Given the description of an element on the screen output the (x, y) to click on. 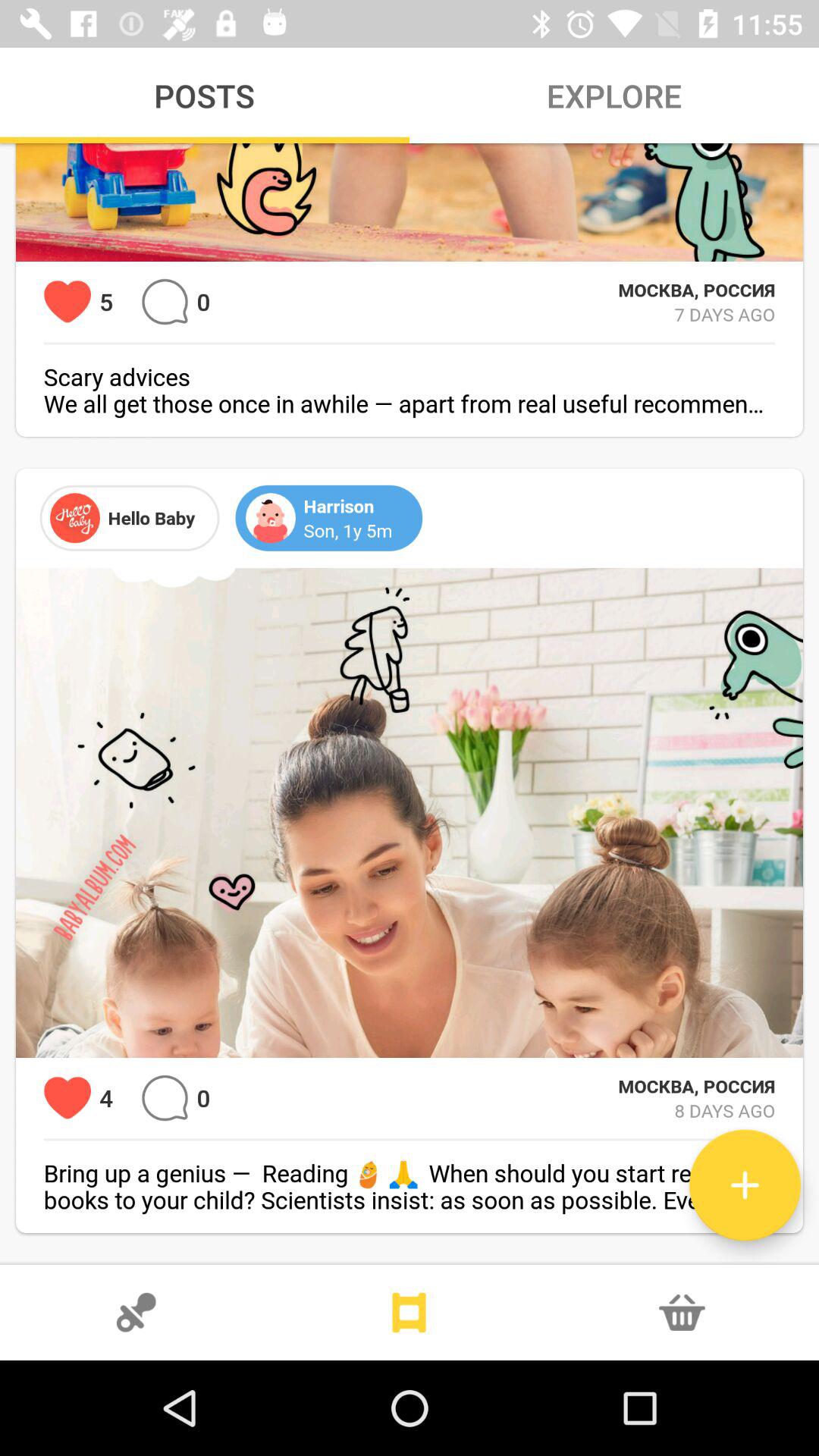
command (164, 1098)
